Given the description of an element on the screen output the (x, y) to click on. 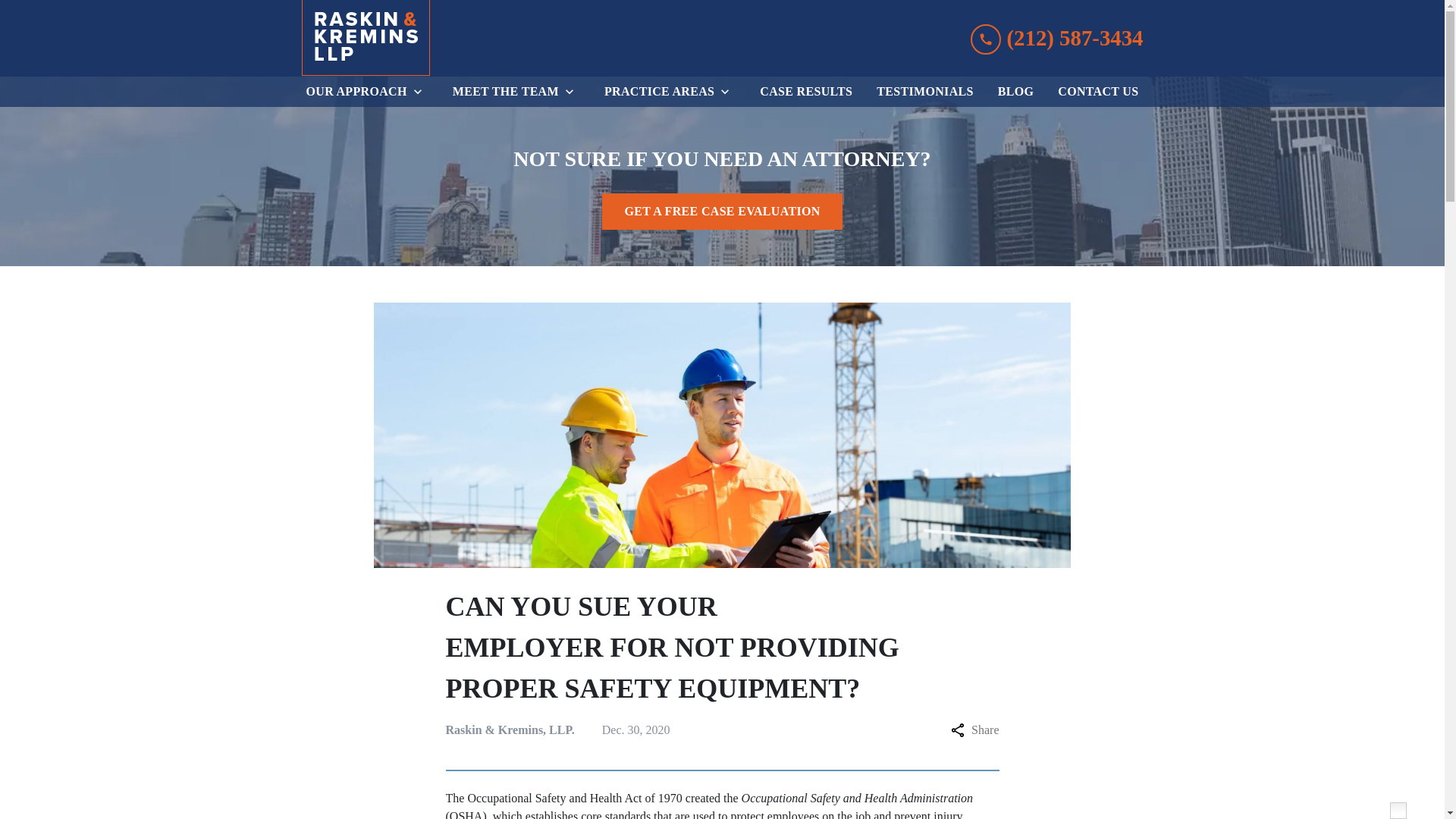
CASE RESULTS (806, 91)
TESTIMONIALS (924, 91)
CONTACT US (1097, 91)
OUR APPROACH (353, 91)
PRACTICE AREAS (656, 91)
BLOG (1016, 91)
MEET THE TEAM (502, 91)
GET A FREE CASE EVALUATION (721, 211)
Share (974, 730)
